Given the description of an element on the screen output the (x, y) to click on. 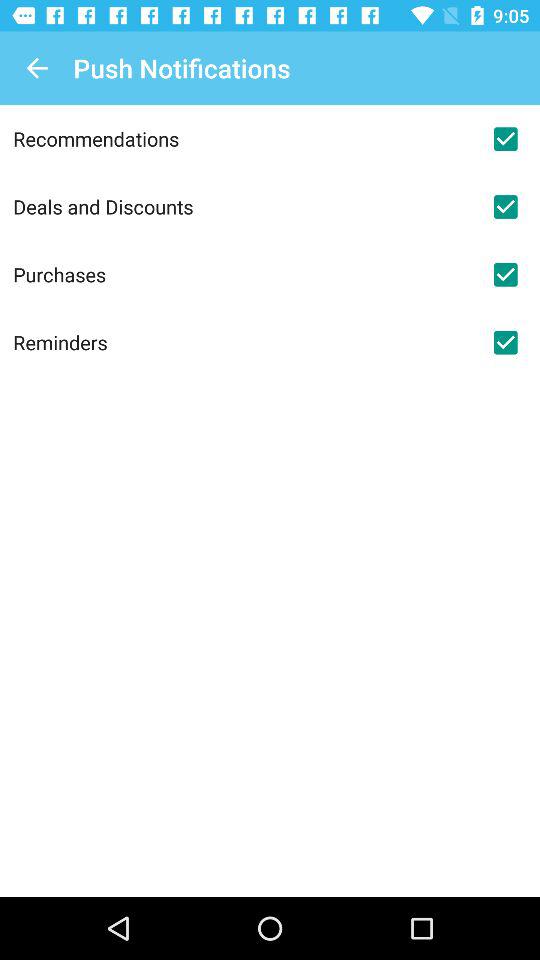
open the item above the deals and discounts (242, 138)
